Given the description of an element on the screen output the (x, y) to click on. 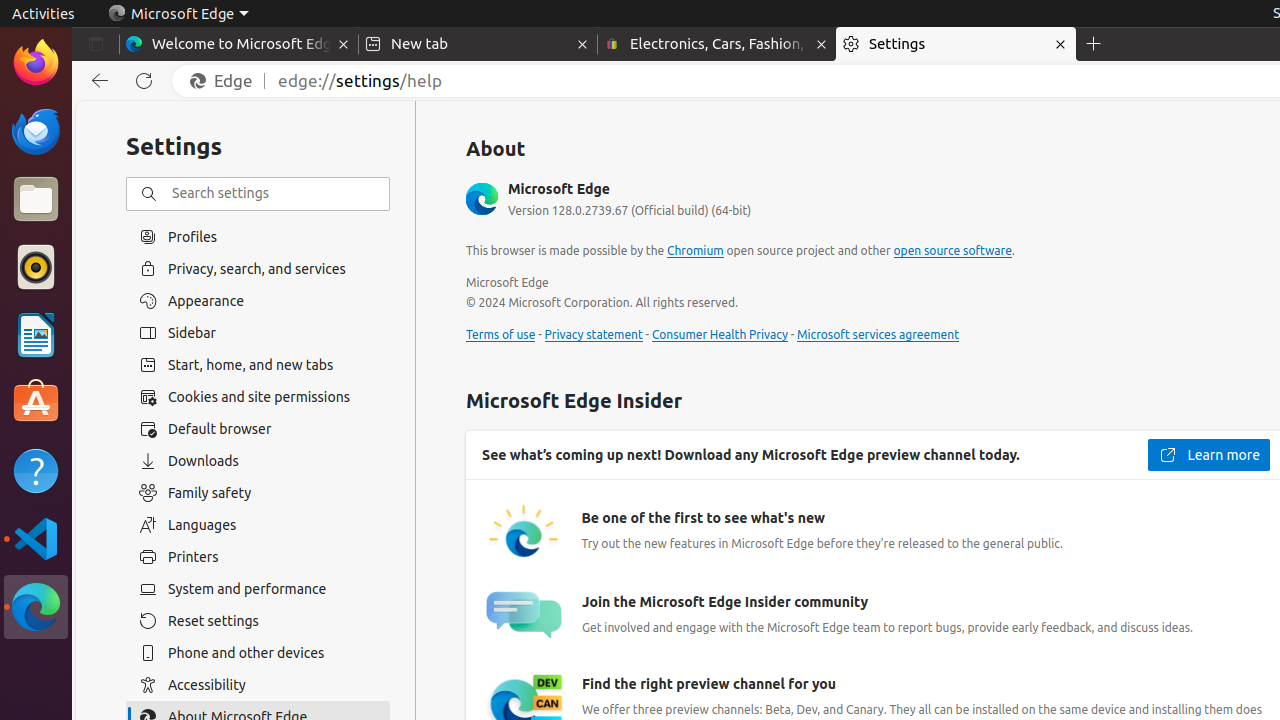
Microsoft Edge Element type: menu (178, 13)
Tab actions menu Element type: push-button (96, 44)
Back Element type: push-button (96, 81)
Privacy, search, and services Element type: tree-item (258, 268)
Settings Element type: page-tab (956, 44)
